Given the description of an element on the screen output the (x, y) to click on. 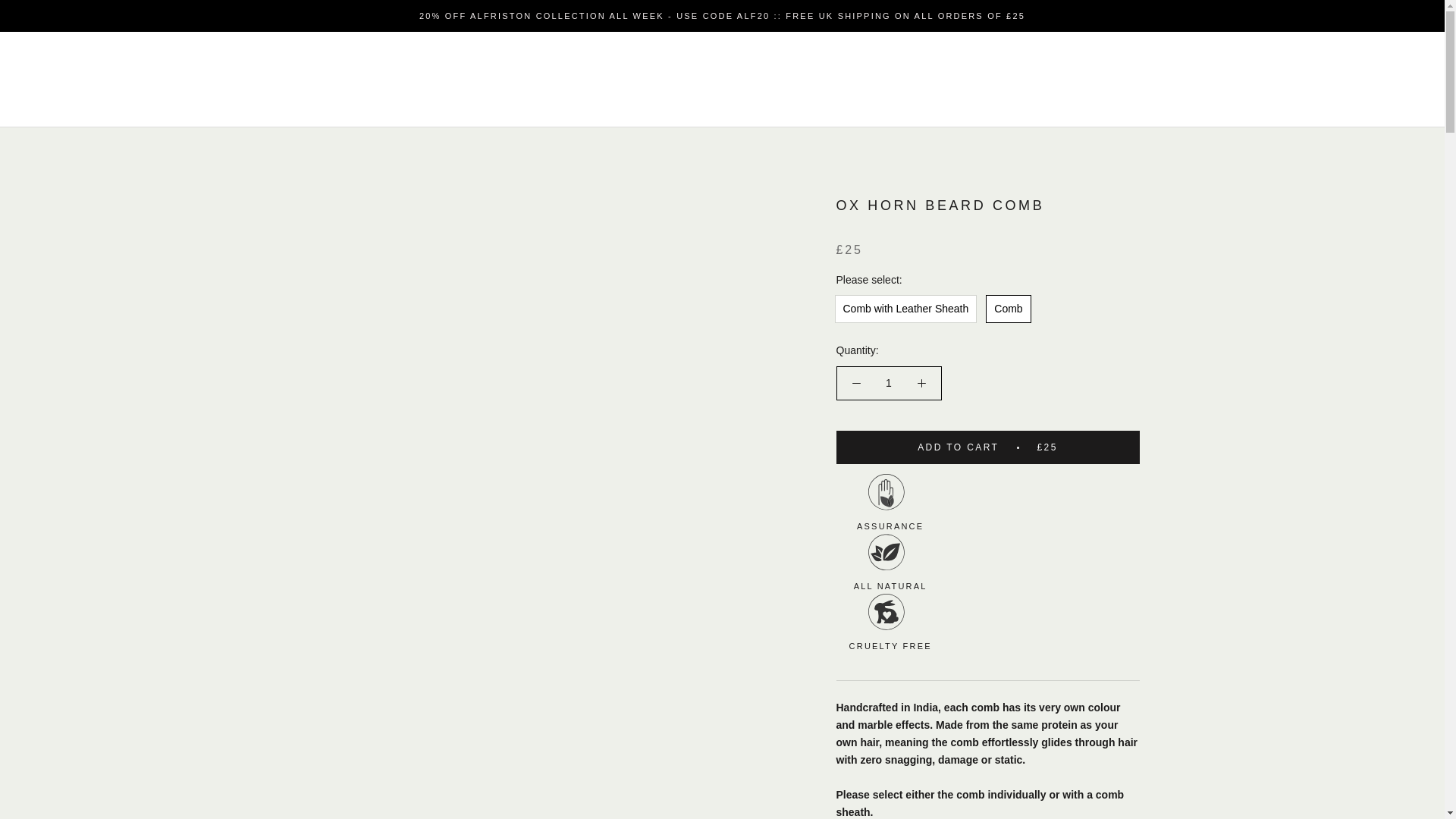
1 (888, 382)
